Given the description of an element on the screen output the (x, y) to click on. 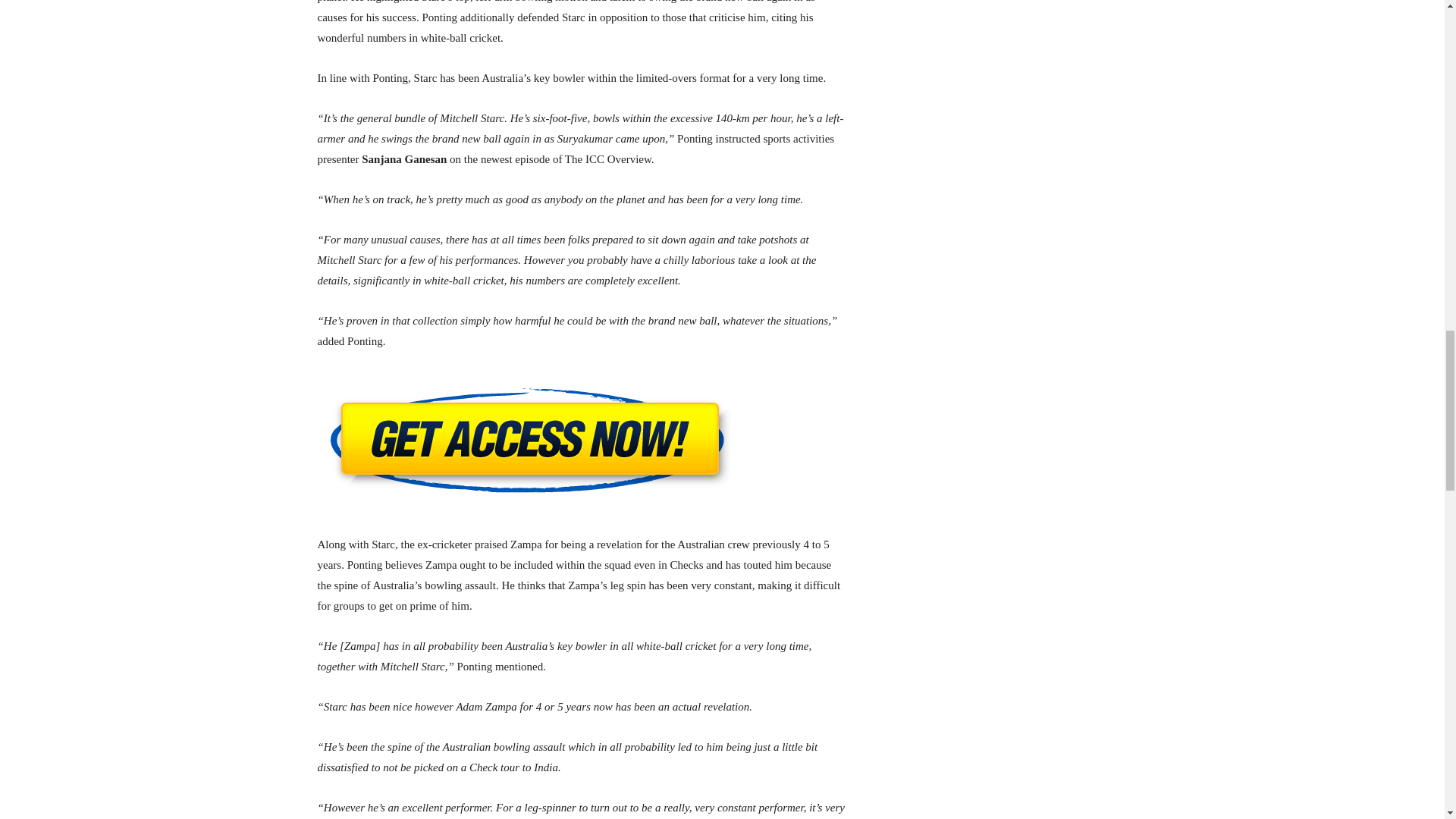
Watch Now Free (580, 443)
